Given the description of an element on the screen output the (x, y) to click on. 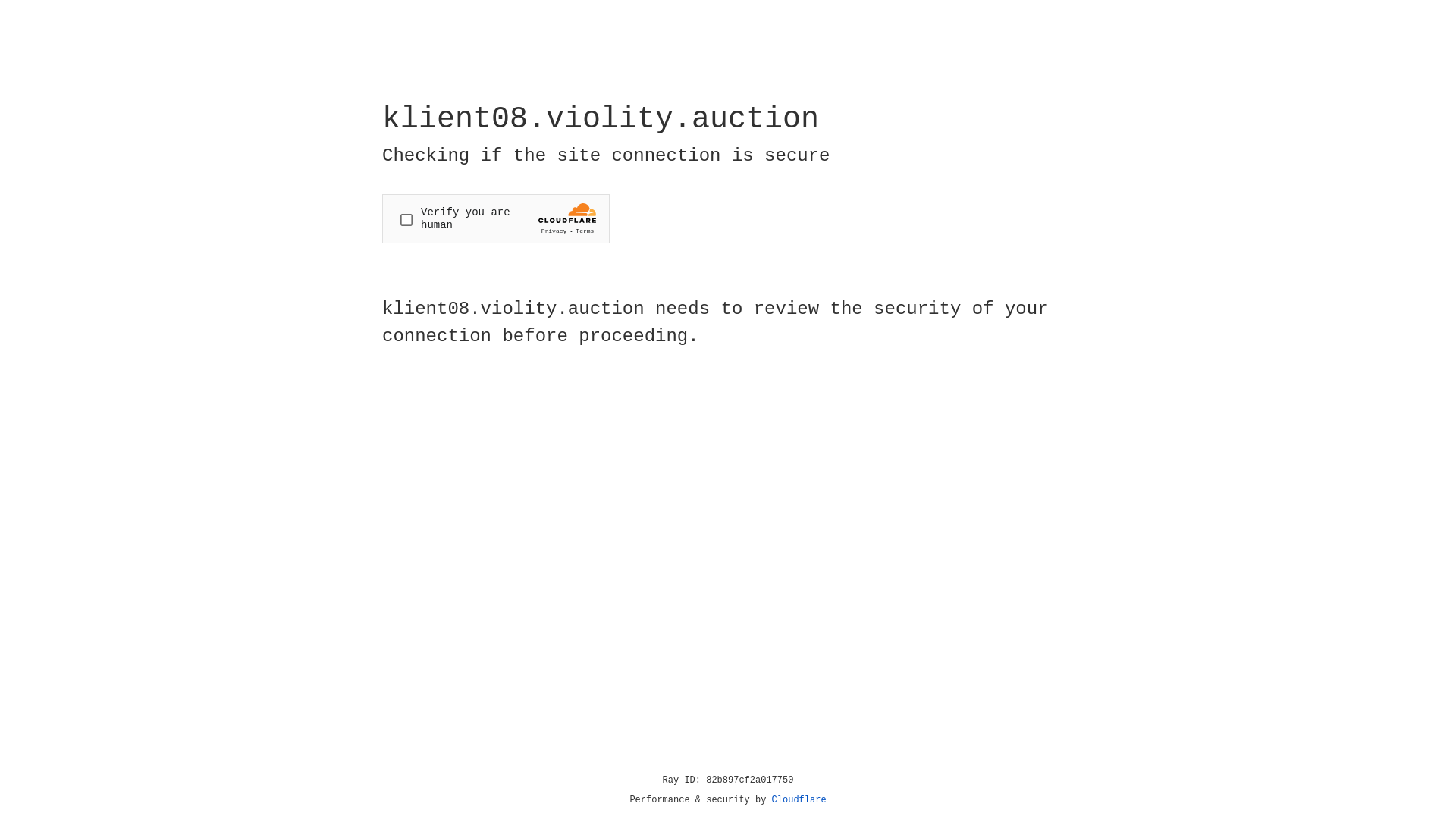
Widget containing a Cloudflare security challenge Element type: hover (495, 218)
Cloudflare Element type: text (798, 799)
